Given the description of an element on the screen output the (x, y) to click on. 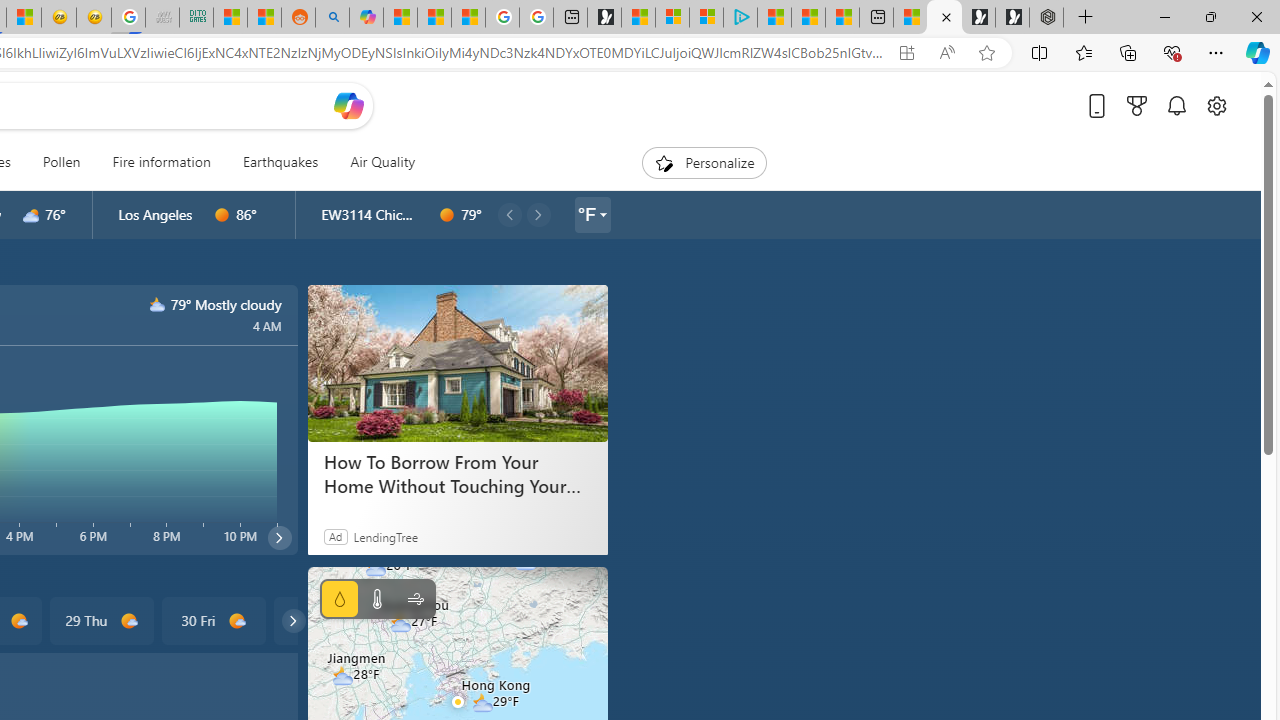
d1000 (235, 621)
Earthquakes (279, 162)
Air Quality (375, 162)
App available. Install Microsoft Start Weather (906, 53)
n3000 (157, 303)
Pollen (61, 162)
Precipitation (339, 599)
These 3 Stocks Pay You More Than 5% to Own Them (841, 17)
